Given the description of an element on the screen output the (x, y) to click on. 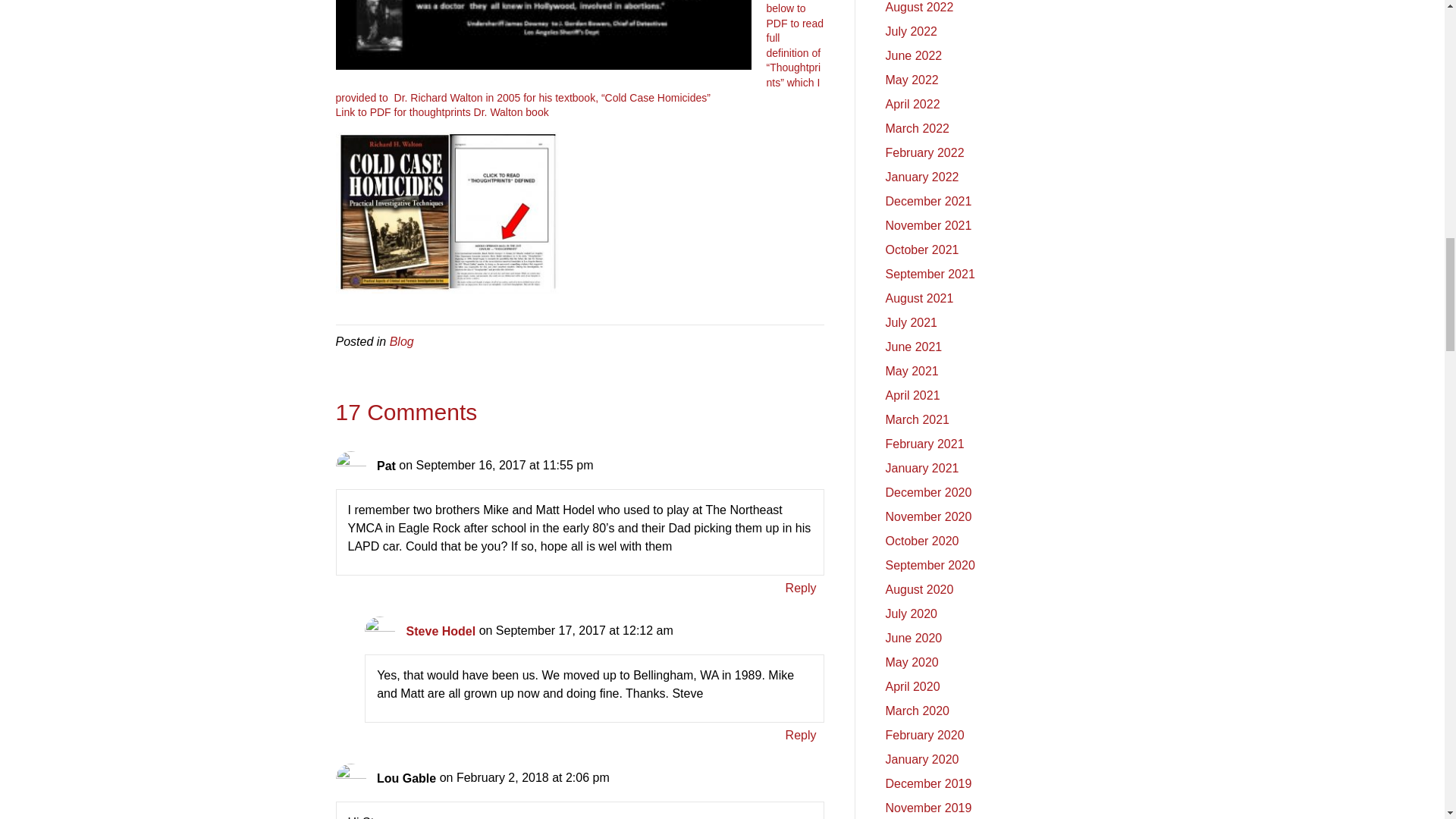
Steve Hodel (441, 631)
Blog (401, 341)
Reply (801, 588)
 thoughtprints Dr. Walton book (477, 111)
Reply (801, 734)
